Given the description of an element on the screen output the (x, y) to click on. 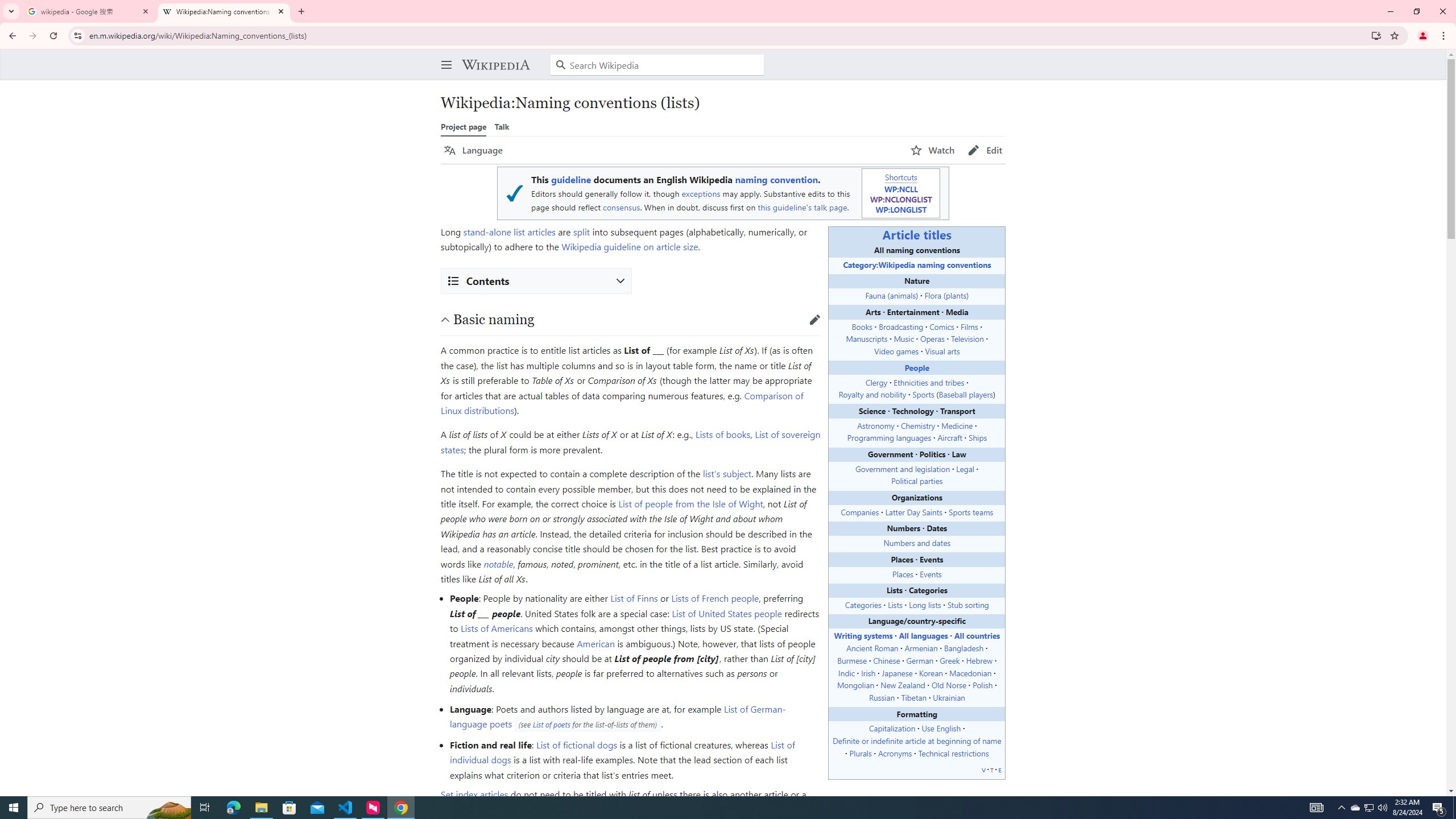
Visual arts (941, 350)
t (992, 769)
Definite or indefinite article at beginning of name (916, 740)
Numbers and dates (916, 542)
List of Finns (634, 598)
Burmese (851, 659)
All countries (976, 635)
Government and legislation (902, 467)
Music (903, 338)
Use English (940, 728)
German (919, 659)
Macedonian (970, 672)
